Given the description of an element on the screen output the (x, y) to click on. 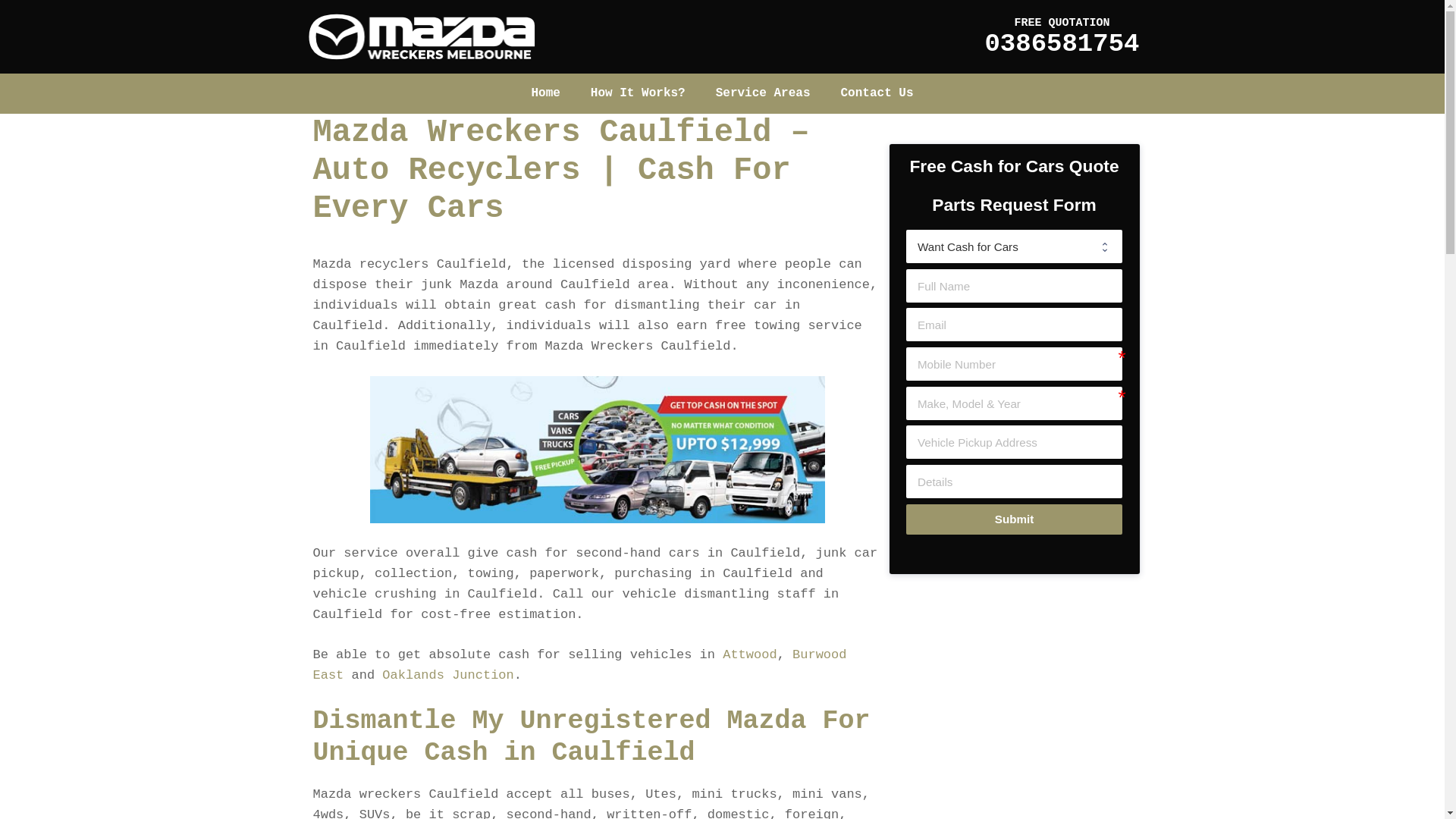
Burwood East Element type: text (579, 664)
Attwood Element type: text (749, 654)
Submit Element type: text (1013, 519)
Oaklands Junction Element type: text (447, 675)
Mazda Wreckers Melbourne Element type: hover (420, 36)
Service Areas Element type: text (762, 93)
Contact Us Element type: text (876, 93)
How It Works? Element type: text (637, 93)
Mazda Wreckers Melbourne Element type: hover (420, 36)
Home Element type: text (544, 93)
0386581754 Element type: text (1061, 44)
